Given the description of an element on the screen output the (x, y) to click on. 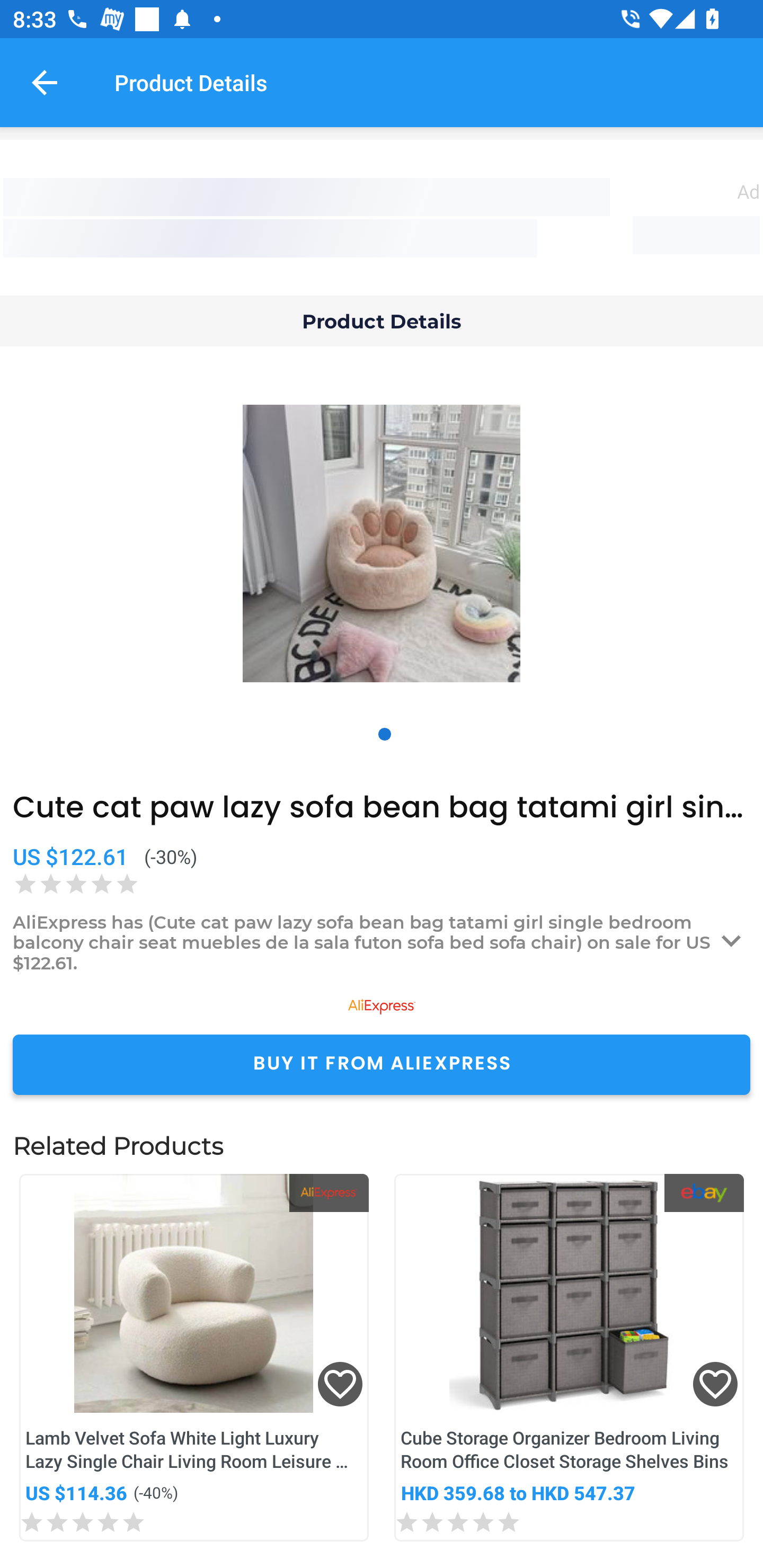
Navigate up (44, 82)
BUY IT FROM ALIEXPRESS (381, 1064)
